Given the description of an element on the screen output the (x, y) to click on. 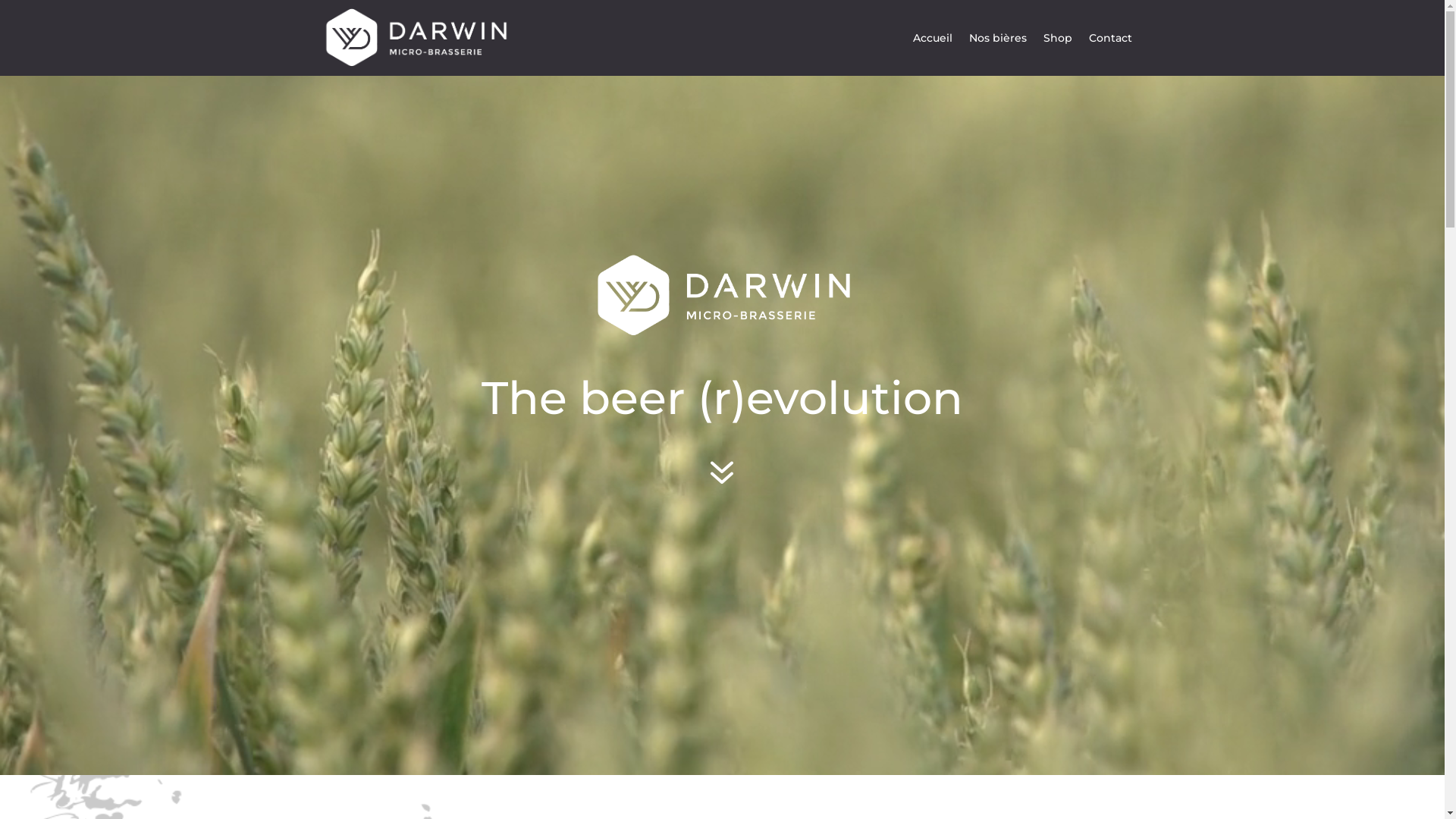
7 Element type: text (722, 471)
Contact Element type: text (1110, 37)
Darwin_logo_white-06 Element type: hover (722, 295)
Shop Element type: text (1057, 37)
Accueil Element type: text (932, 37)
